Given the description of an element on the screen output the (x, y) to click on. 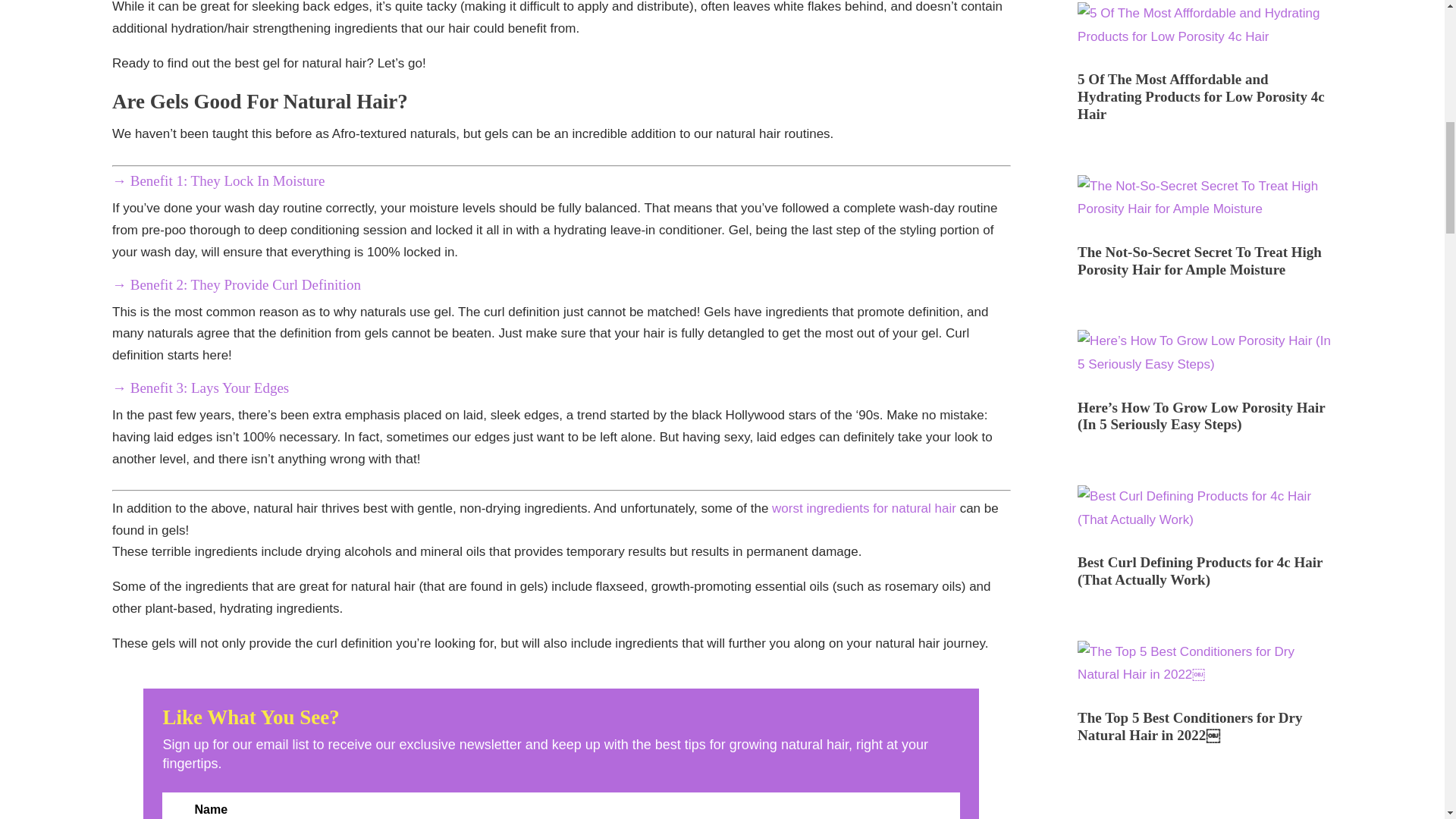
worst ingredients for natural hair (863, 508)
